Given the description of an element on the screen output the (x, y) to click on. 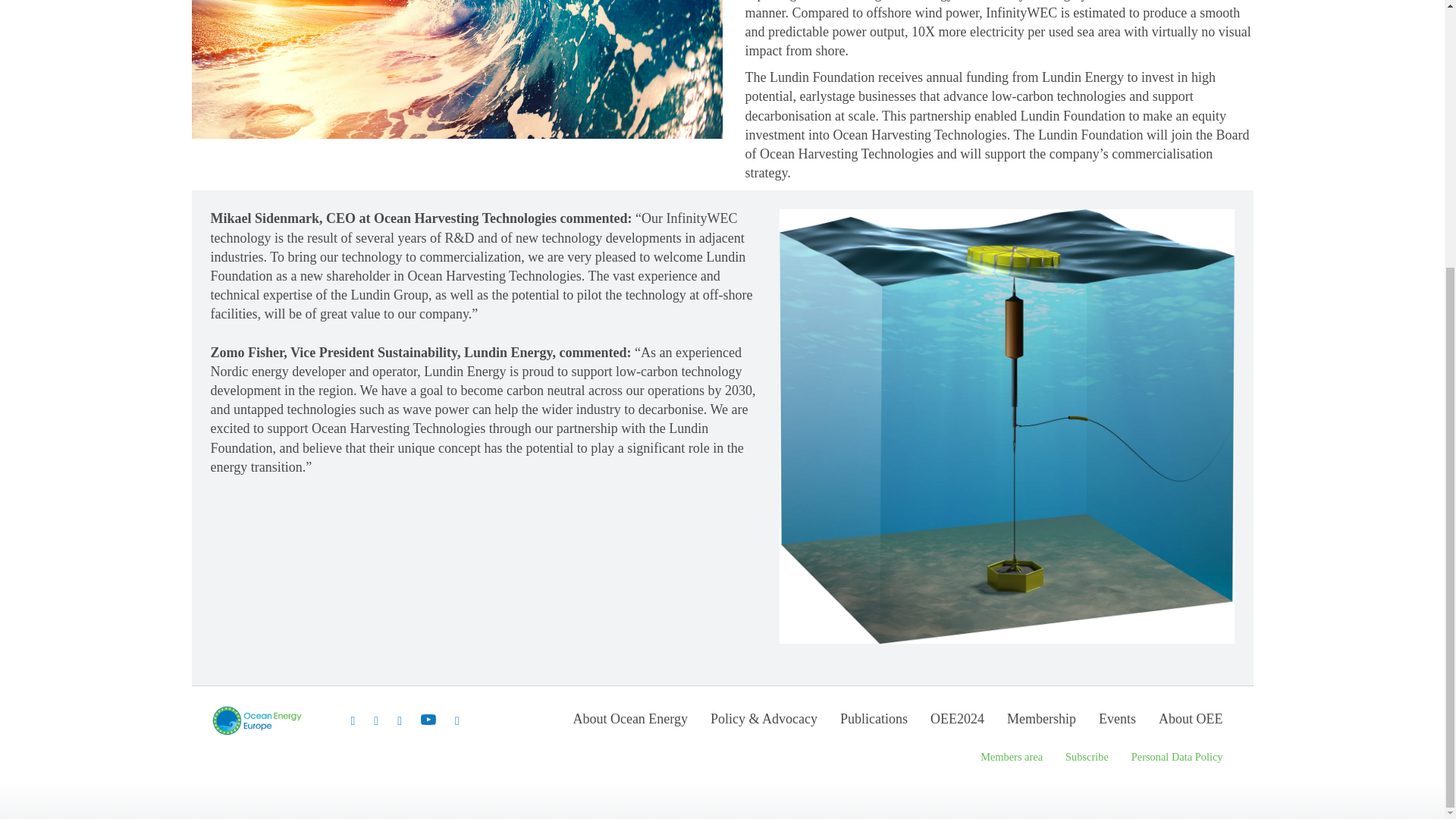
About OEE (1190, 723)
About Ocean Energy (629, 723)
Events (1117, 723)
Personal Data Policy (1177, 761)
Subscribe (1086, 761)
Membership (1041, 723)
Members area (1010, 761)
OEE2024 (957, 723)
Publications (873, 723)
